Given the description of an element on the screen output the (x, y) to click on. 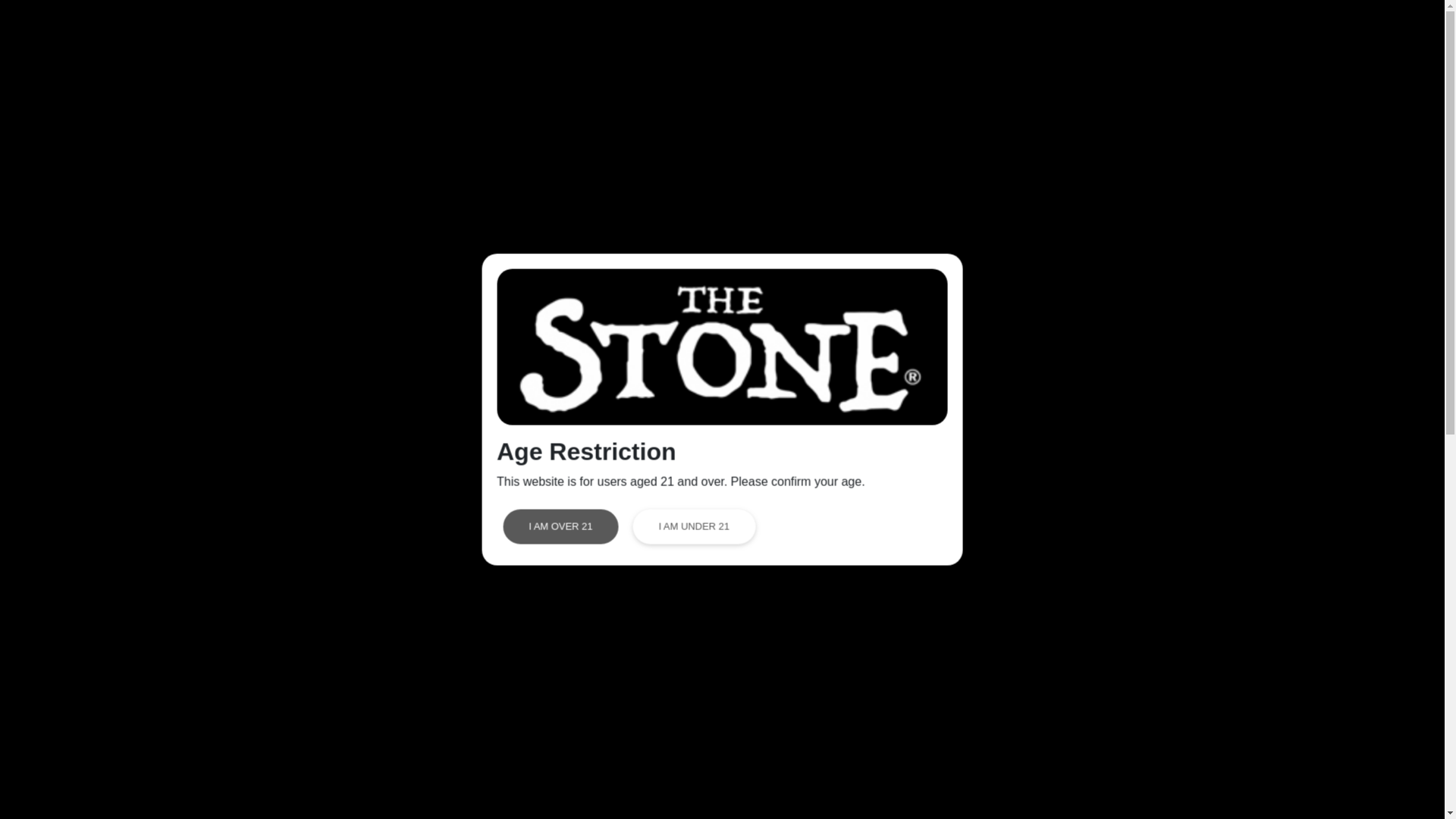
Order Now (849, 33)
Contact (1382, 33)
Blog (1312, 33)
Home (764, 33)
Store Info (1034, 33)
I AM UNDER 21 (693, 525)
Brands (1244, 33)
Latest Coupons (1146, 33)
About Us (941, 33)
